Given the description of an element on the screen output the (x, y) to click on. 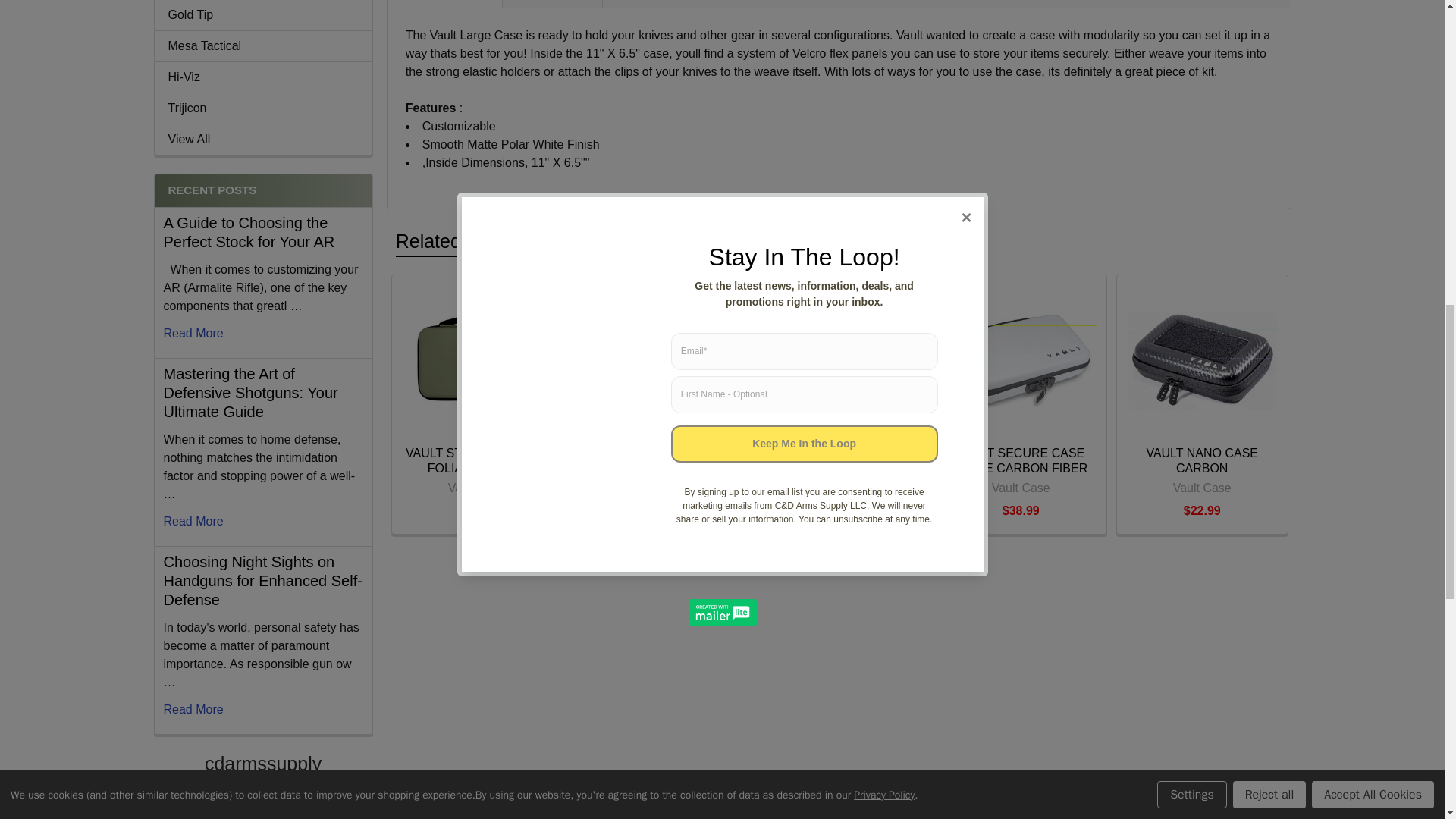
Trijicon (263, 108)
Mesa Tactical (263, 45)
Hi-Viz (263, 76)
Gold Tip (263, 14)
